Given the description of an element on the screen output the (x, y) to click on. 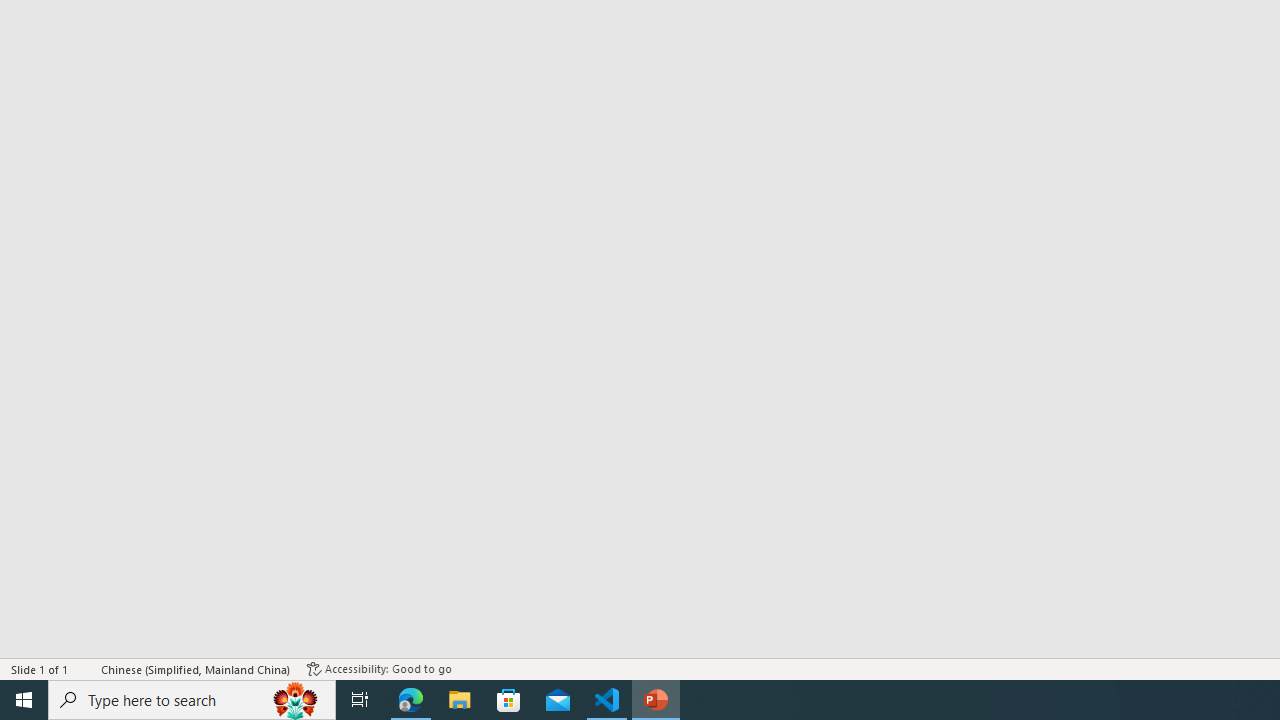
Spell Check  (86, 668)
Accessibility Checker Accessibility: Good to go (379, 668)
